Given the description of an element on the screen output the (x, y) to click on. 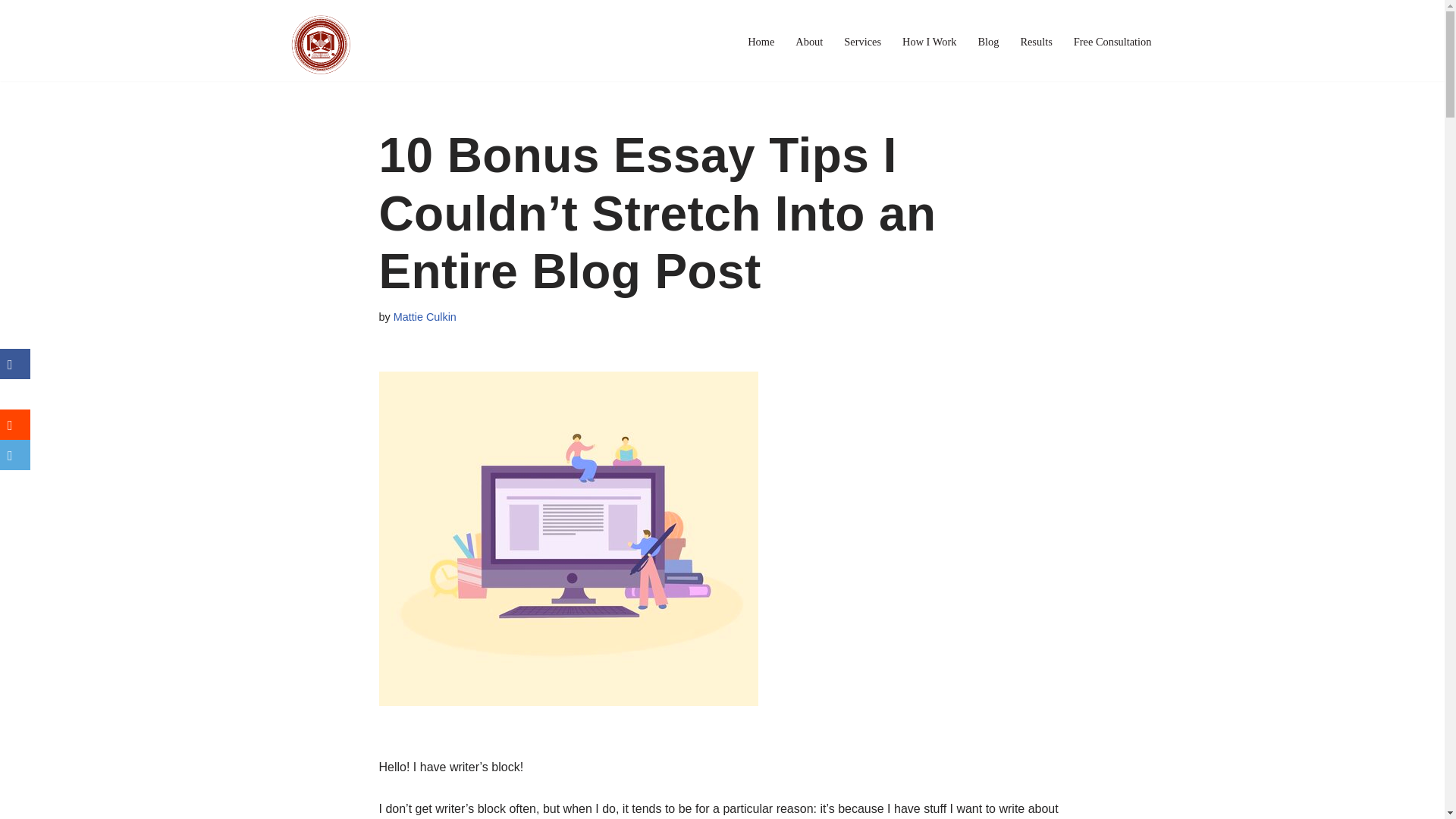
Results (1035, 41)
Mattie Culkin (425, 316)
About (808, 41)
Skip to content (11, 31)
Services (862, 41)
Posts by Mattie Culkin (425, 316)
College With Mattie (319, 44)
Free Consultation (1112, 41)
Home (761, 41)
How I Work (929, 41)
